Given the description of an element on the screen output the (x, y) to click on. 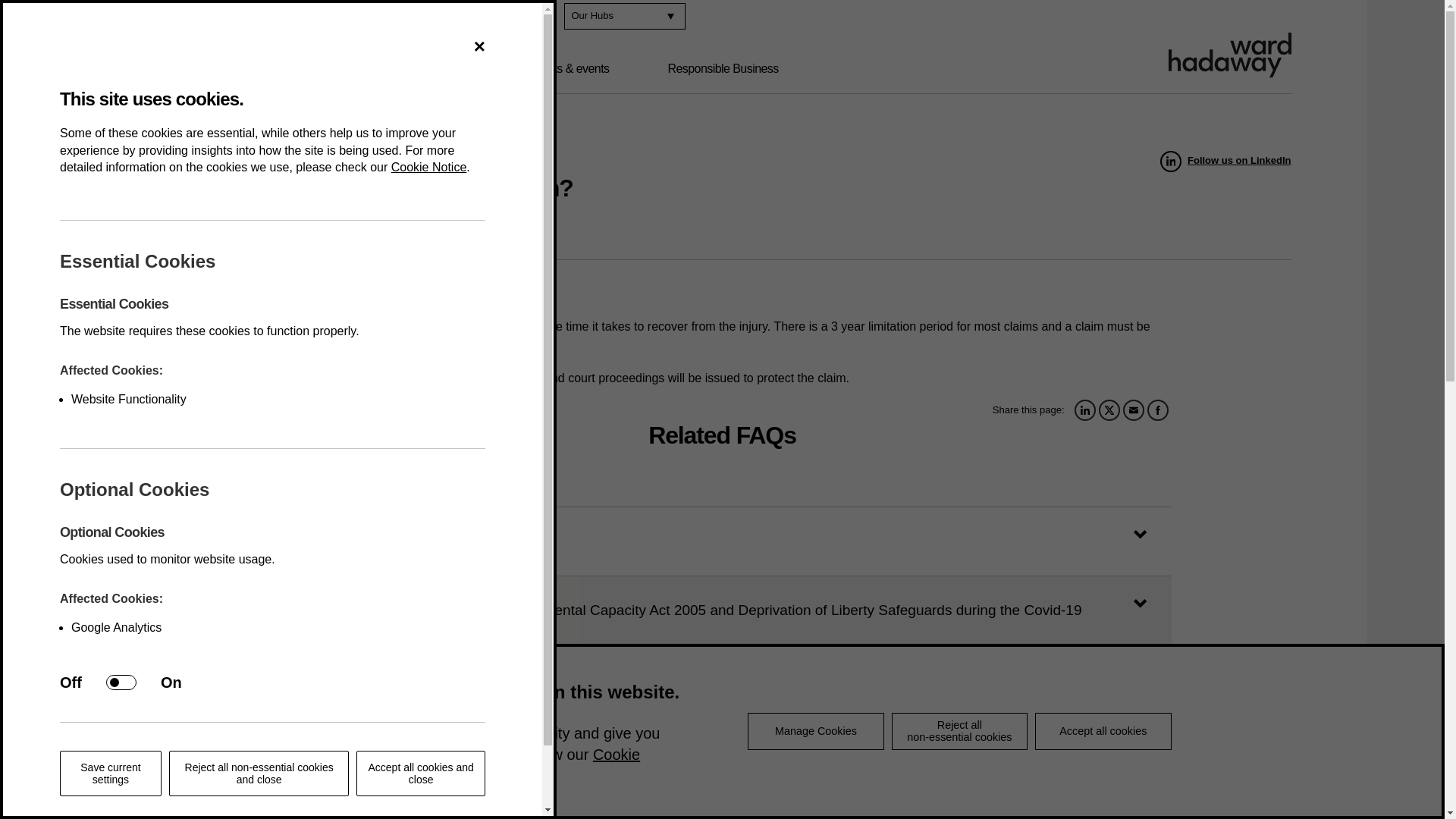
Follow Ward Hadaway on Twitter (505, 16)
Get in touch (305, 16)
Who we are (202, 68)
Join us (222, 16)
What we do (321, 68)
Share this article on twitter (1108, 409)
Share this article on LinkedIn (1084, 409)
Get in touch (305, 16)
Return to the Ward Hadaway homepage (1228, 54)
Follow Ward Hadaway on Vimeo (537, 16)
Join us (222, 16)
Follow Ward Hadaway on LinkedIn (1225, 160)
Responsible Business (722, 68)
Accessibility (399, 16)
Accessibility (399, 16)
